Given the description of an element on the screen output the (x, y) to click on. 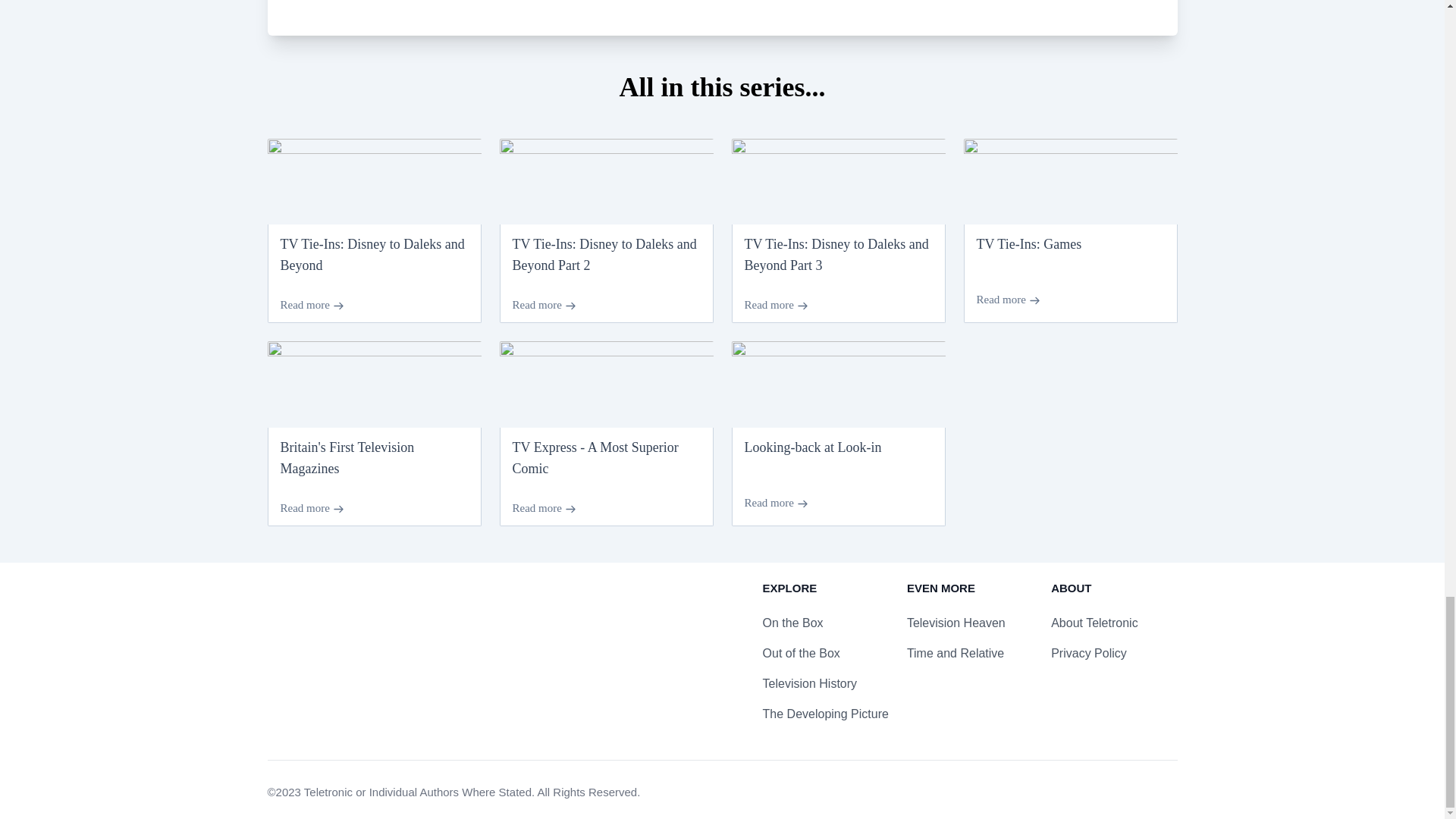
About Teletronic (1094, 622)
Out of the Box (801, 653)
The Developing Picture (825, 713)
Television Heaven (956, 622)
Homepage (320, 600)
Time and Relative (955, 653)
On the Box (793, 622)
Privacy Policy (1088, 653)
Television History (809, 683)
